Given the description of an element on the screen output the (x, y) to click on. 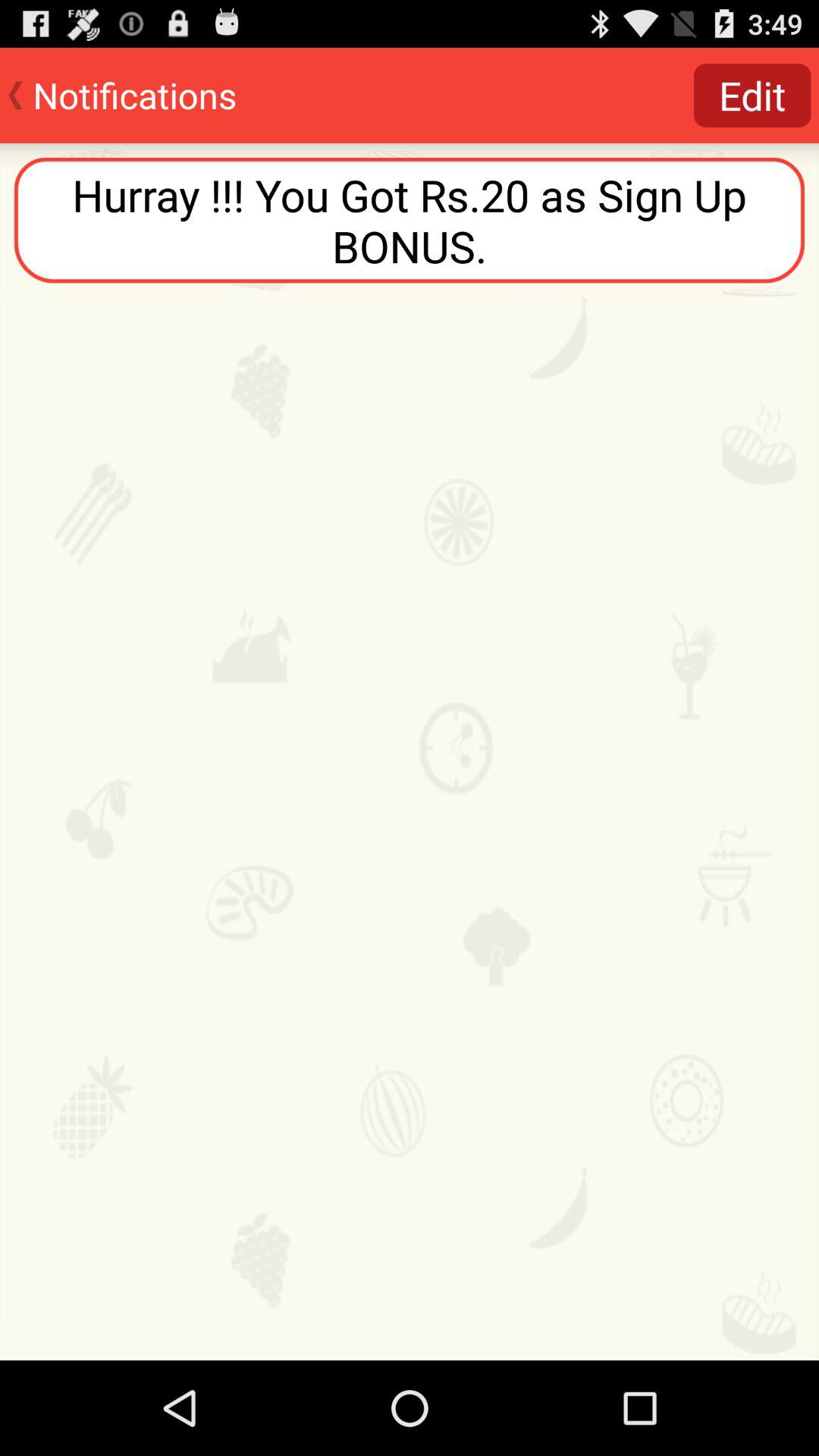
choose item above the hurray you got icon (752, 95)
